Given the description of an element on the screen output the (x, y) to click on. 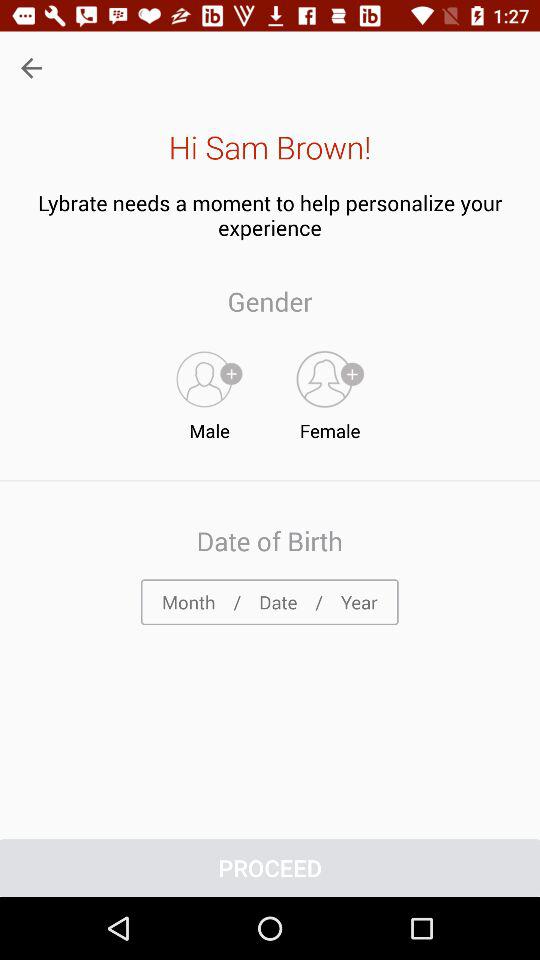
tap the icon below the gender icon (329, 391)
